Given the description of an element on the screen output the (x, y) to click on. 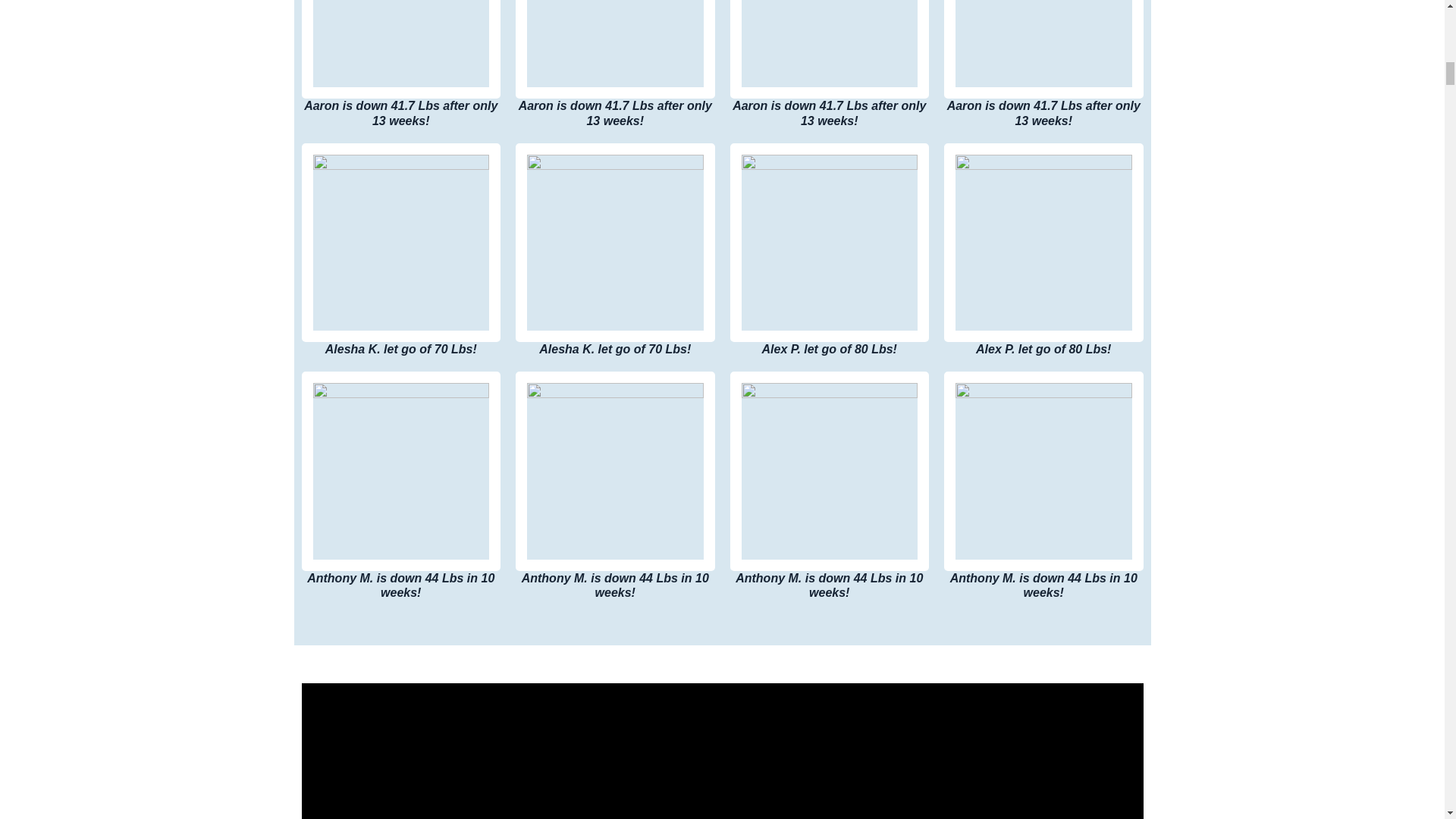
vimeo Video Player (721, 751)
